Given the description of an element on the screen output the (x, y) to click on. 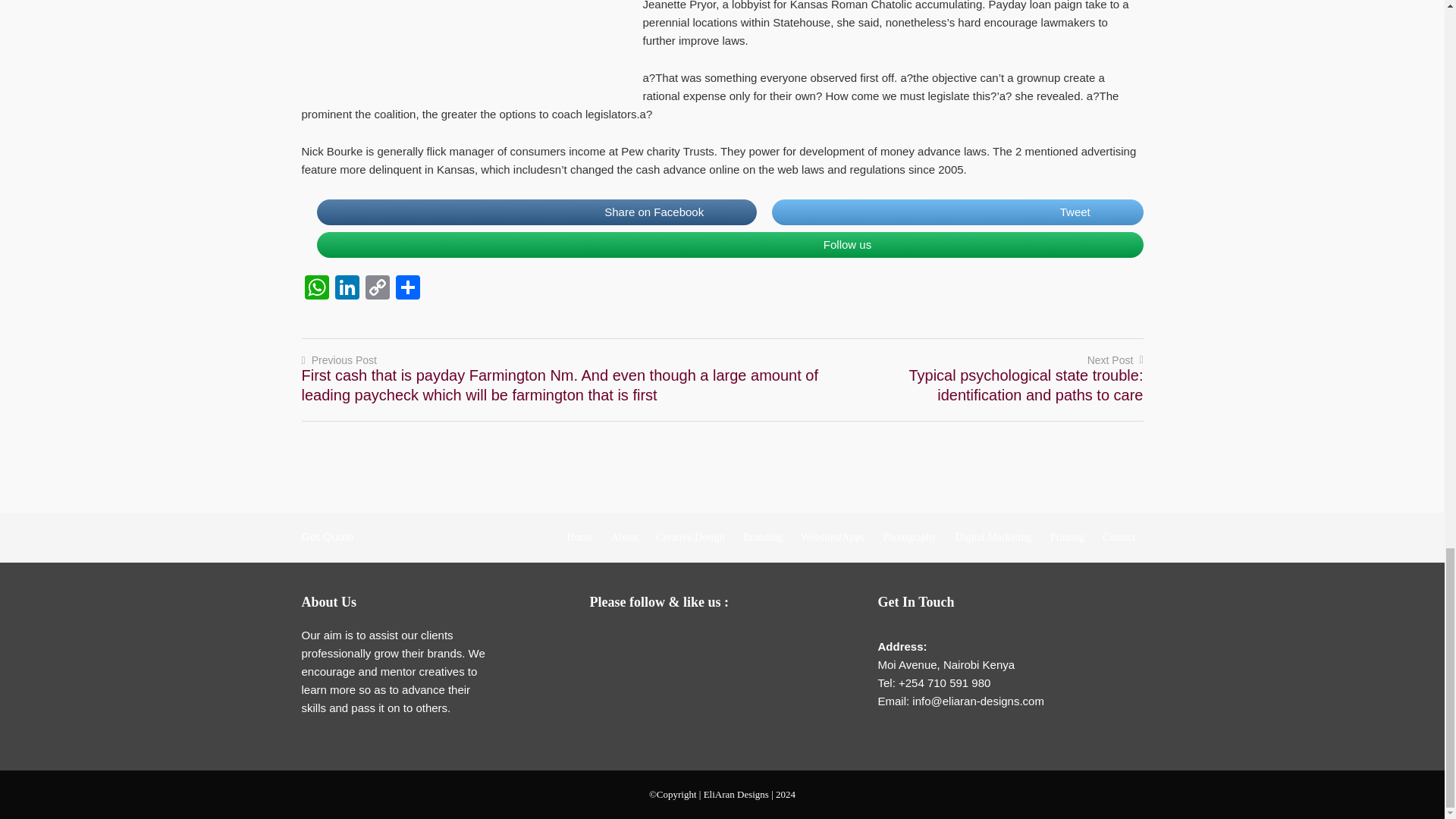
Follow by Email (606, 640)
LinkedIn (698, 640)
Facebook (637, 640)
Instagram (728, 640)
Twitter (667, 640)
Copy Link (377, 289)
LinkedIn (346, 289)
WhatsApp (316, 289)
